Given the description of an element on the screen output the (x, y) to click on. 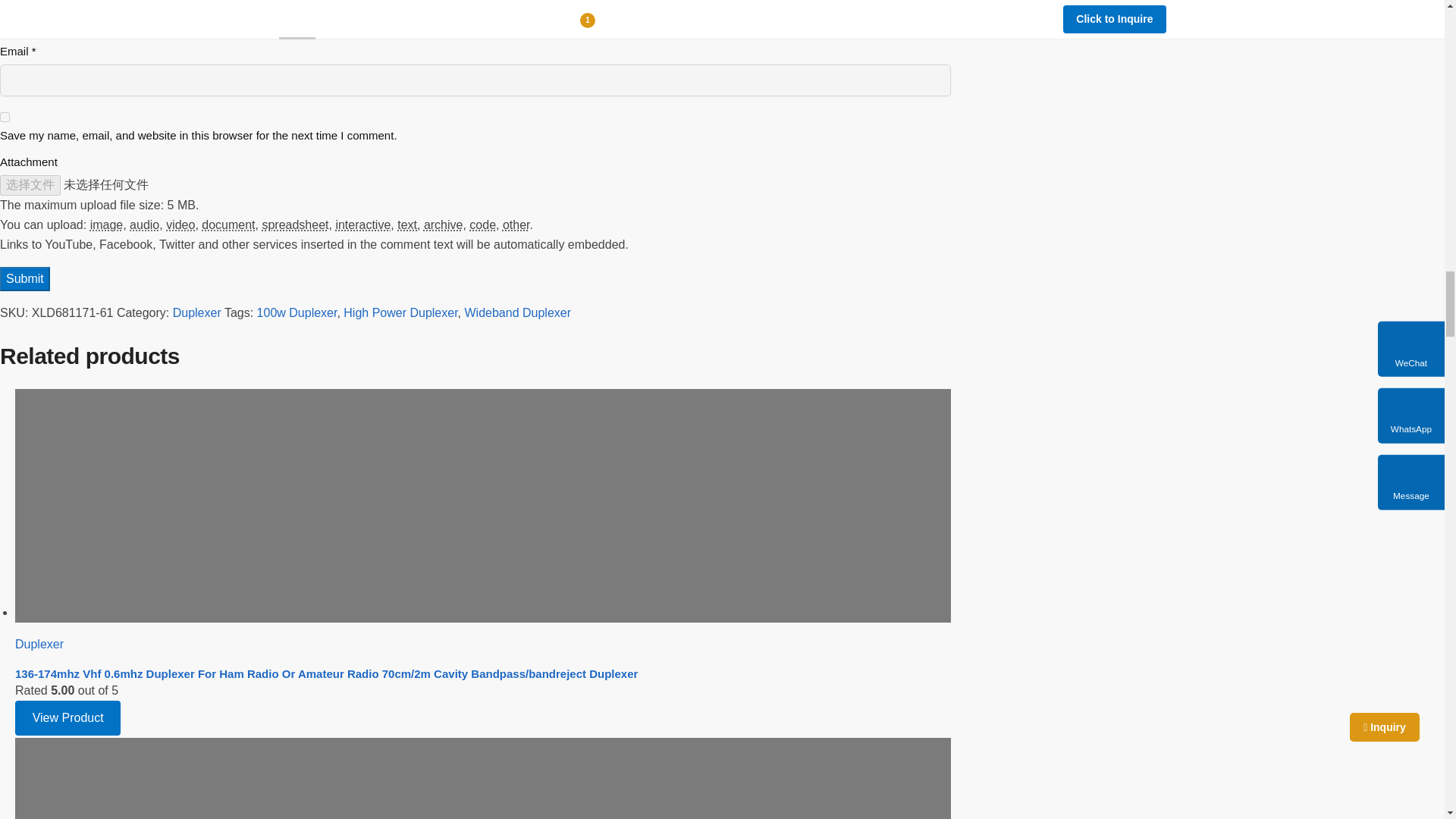
yes (5, 117)
Submit (24, 278)
